Given the description of an element on the screen output the (x, y) to click on. 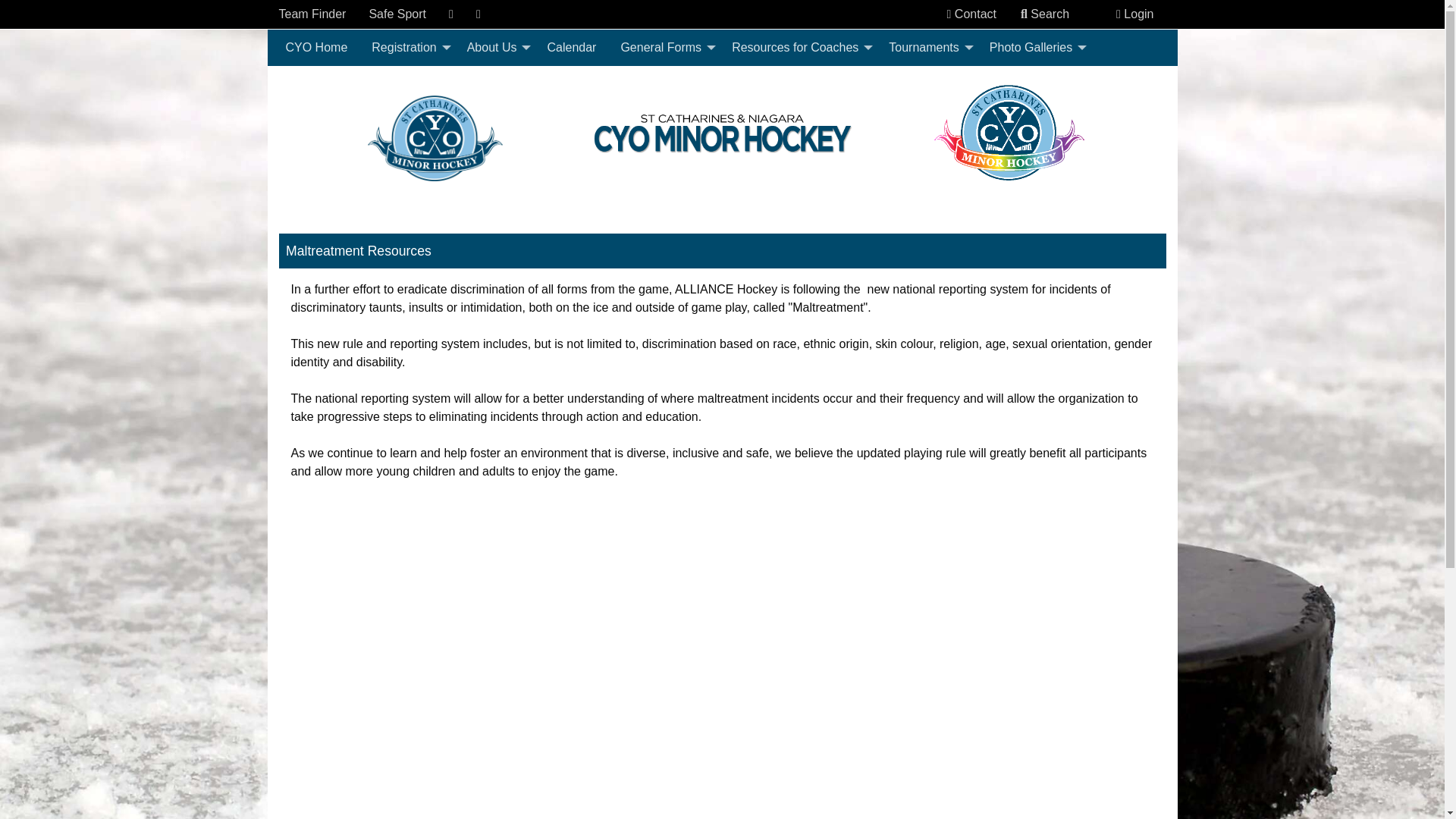
Calendar (571, 47)
 Login (1134, 14)
General Forms (663, 47)
Registration (406, 47)
 Search (1045, 14)
Safe Sport (397, 13)
 Contact (971, 14)
Team Finder (312, 13)
CYO Home (316, 47)
About Us (494, 47)
